Given the description of an element on the screen output the (x, y) to click on. 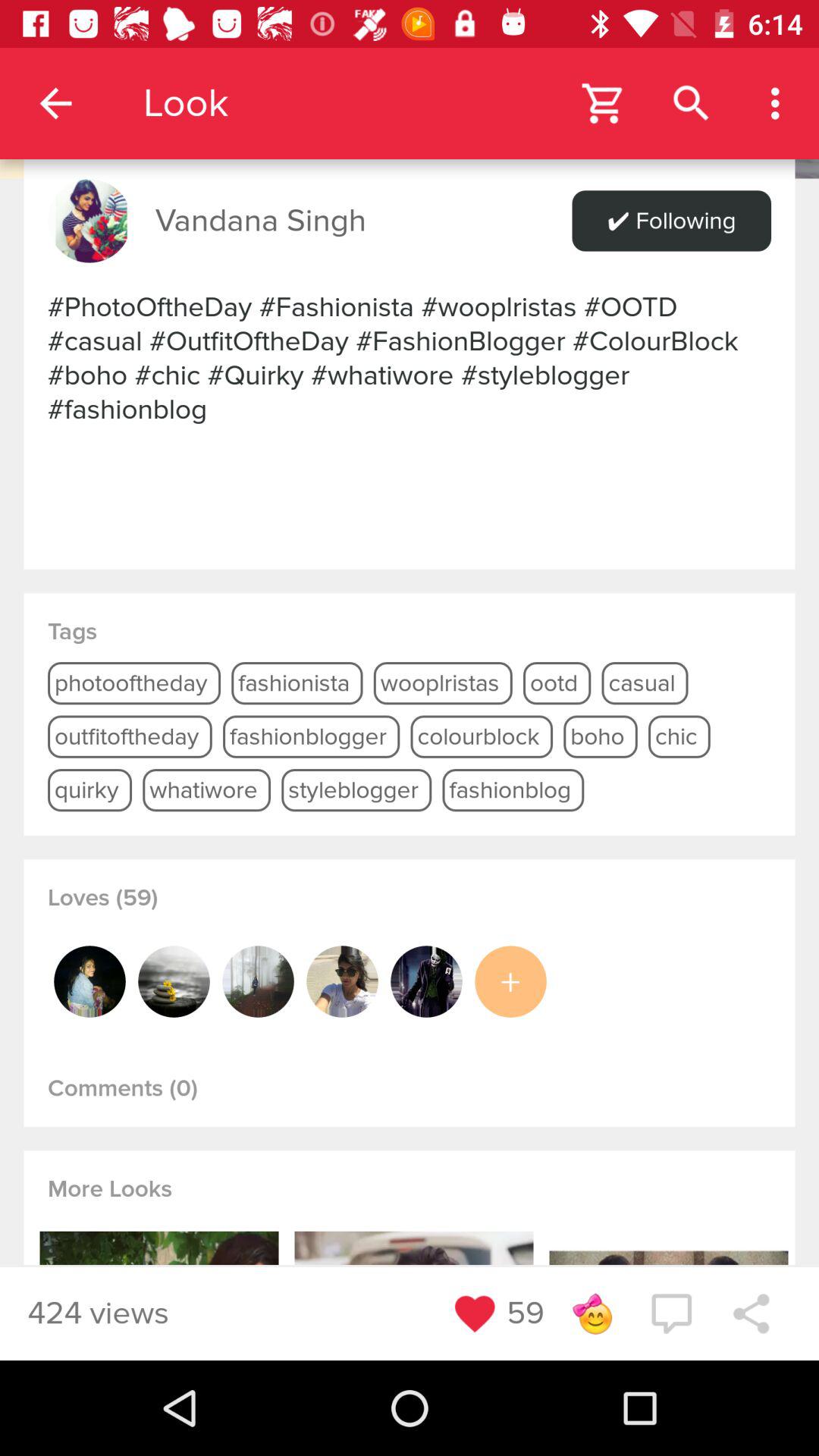
open this user profil (426, 981)
